Given the description of an element on the screen output the (x, y) to click on. 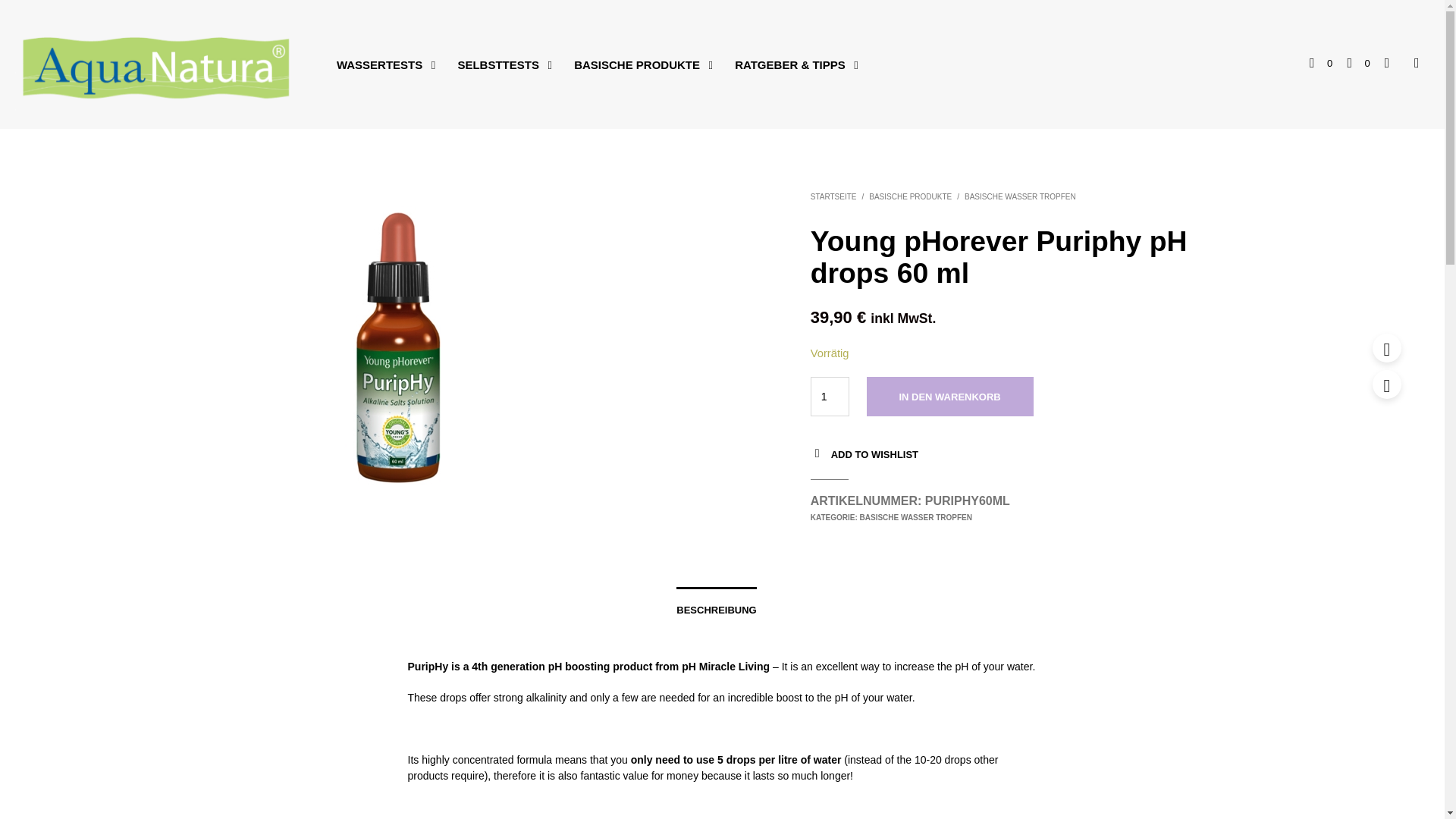
SELBSTTESTS (497, 65)
BASISCHE PRODUKTE (636, 65)
1 (829, 396)
WASSERTESTS (378, 65)
0 (1320, 63)
